Given the description of an element on the screen output the (x, y) to click on. 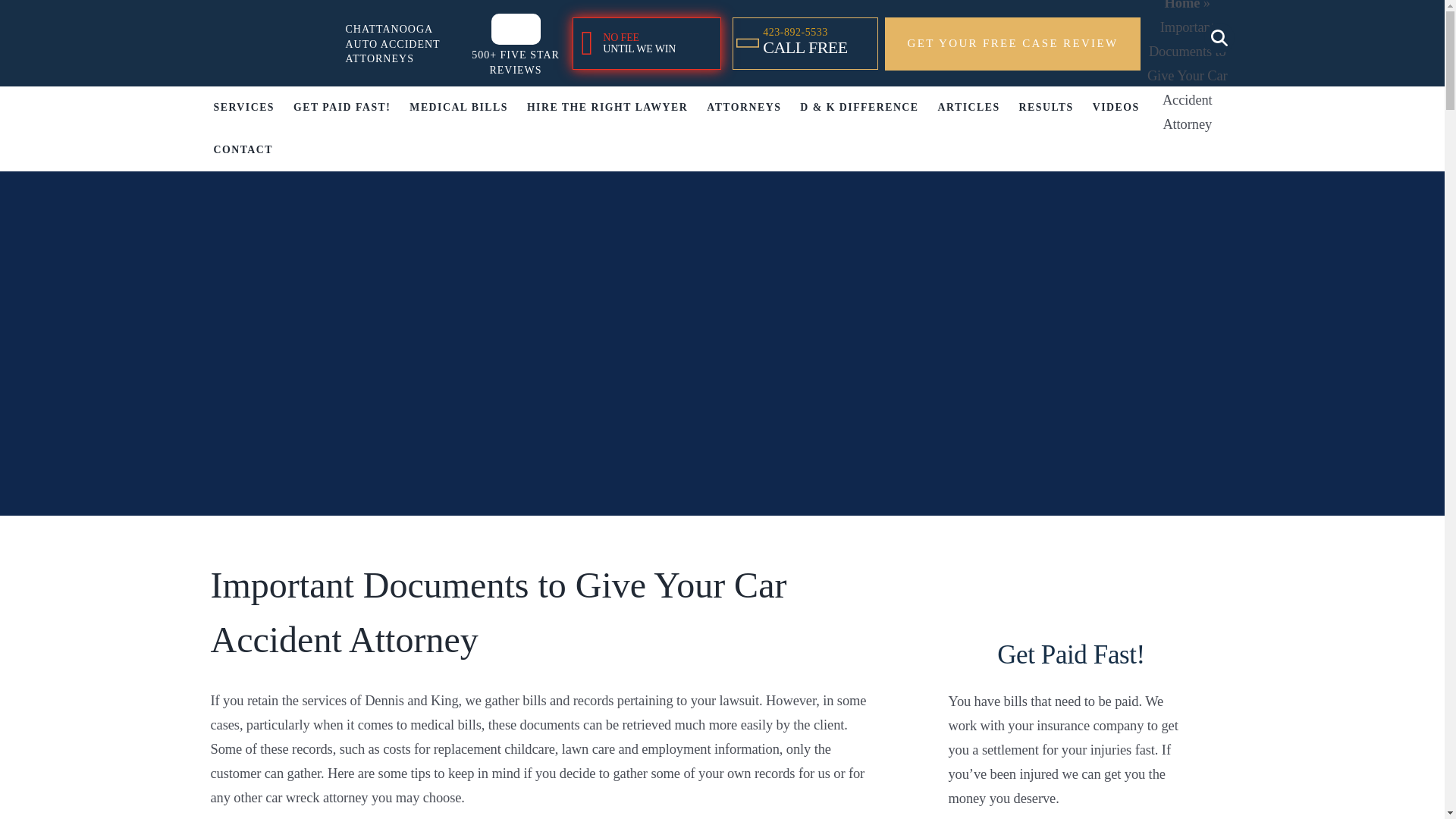
GET PAID FAST! (342, 107)
SERVICES (244, 107)
Home (804, 43)
GET YOUR FREE CASE REVIEW (646, 43)
MEDICAL BILLS (1181, 5)
